Given the description of an element on the screen output the (x, y) to click on. 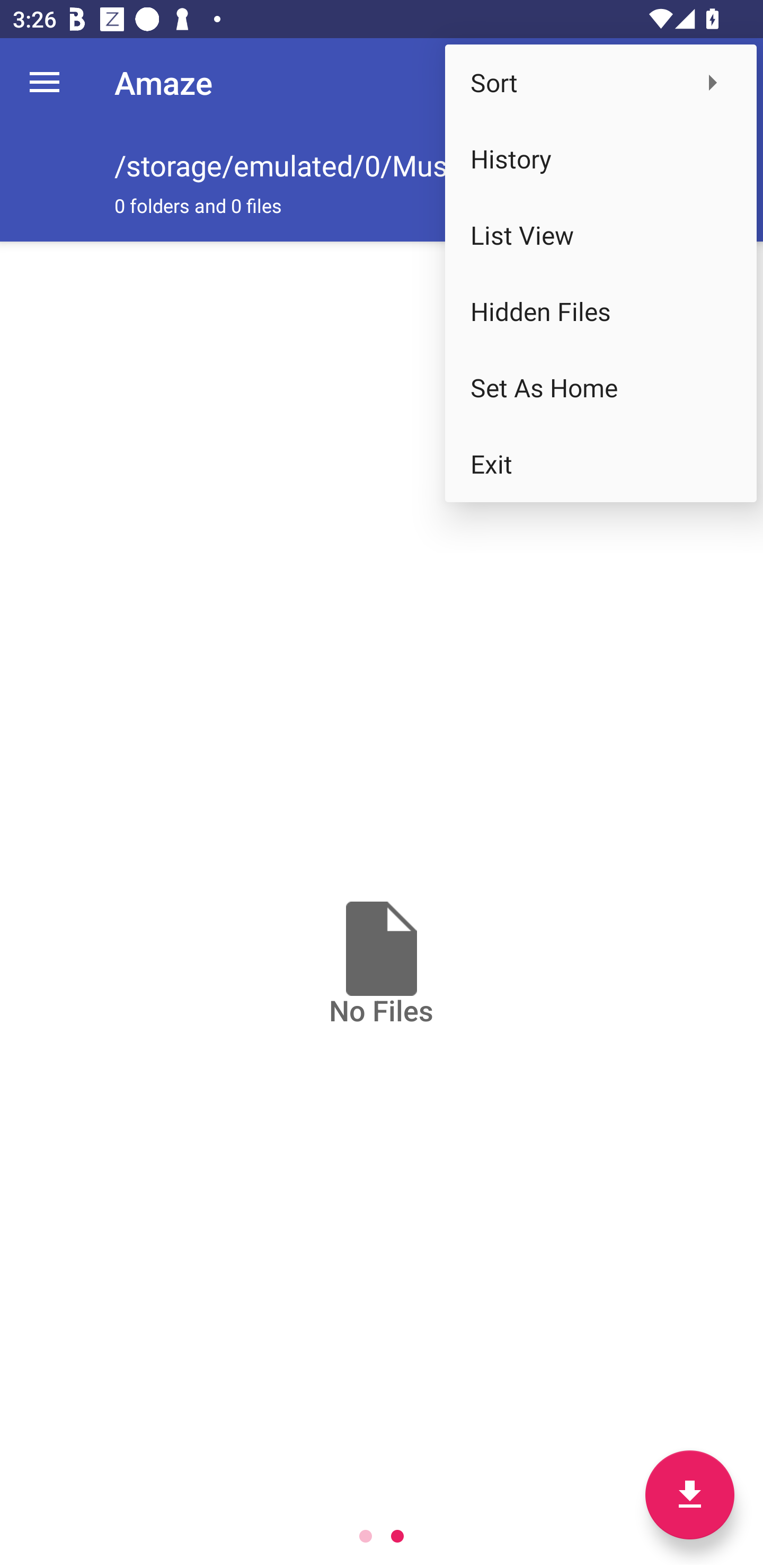
Sort (600, 81)
History (600, 158)
List View (600, 234)
Hidden Files (600, 310)
Set As Home (600, 387)
Exit (600, 463)
